Given the description of an element on the screen output the (x, y) to click on. 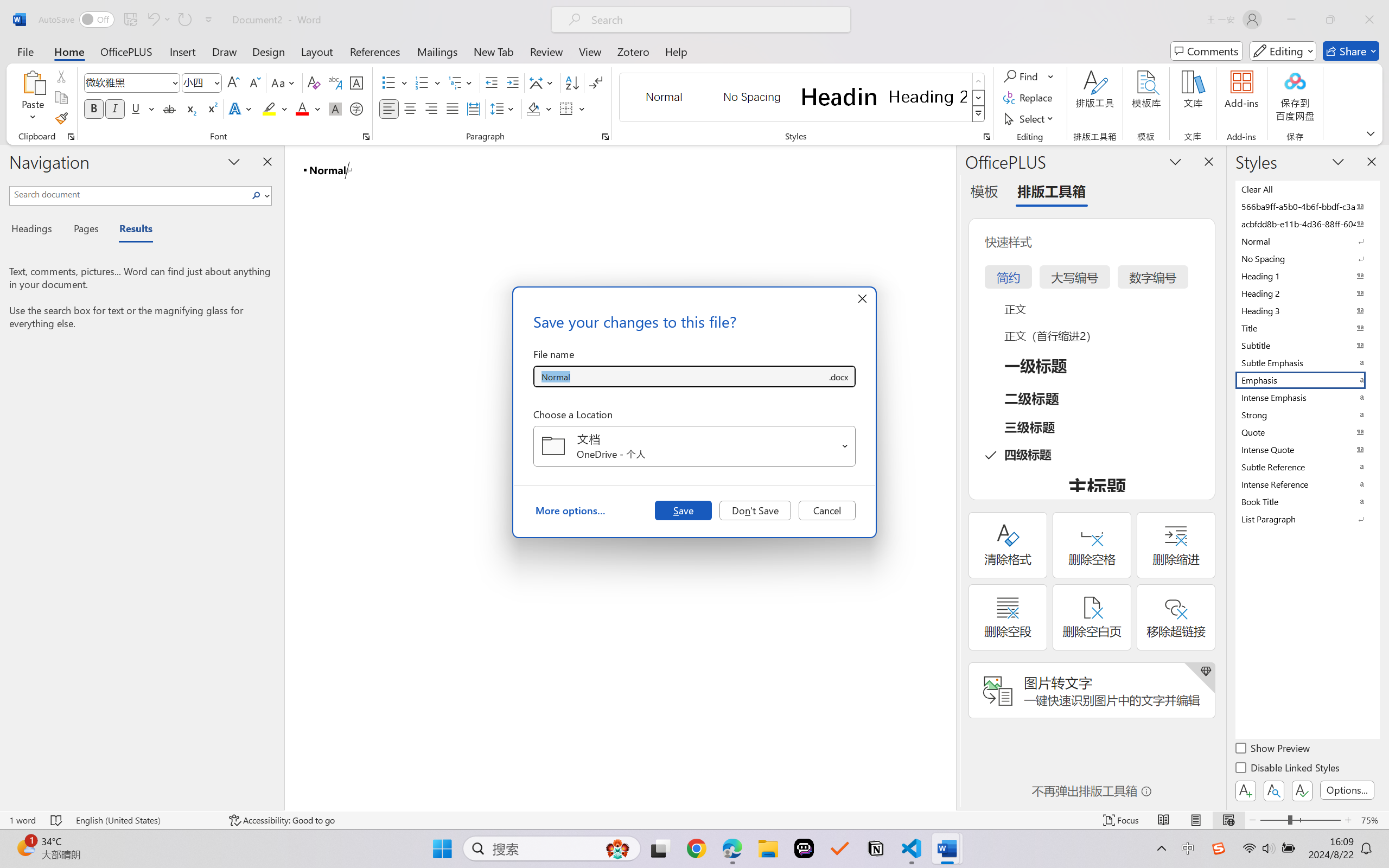
acbfdd8b-e11b-4d36-88ff-6049b138f862 (1306, 223)
Paragraph... (605, 136)
Row Down (978, 97)
Numbering (421, 82)
Title (1306, 327)
Heading 3 (1306, 310)
OfficePLUS (126, 51)
Restore Down (1330, 19)
Web Layout (1228, 819)
Disable Linked Styles (1287, 769)
Font Size (201, 82)
Quote (1306, 431)
Heading 2 (927, 96)
